Given the description of an element on the screen output the (x, y) to click on. 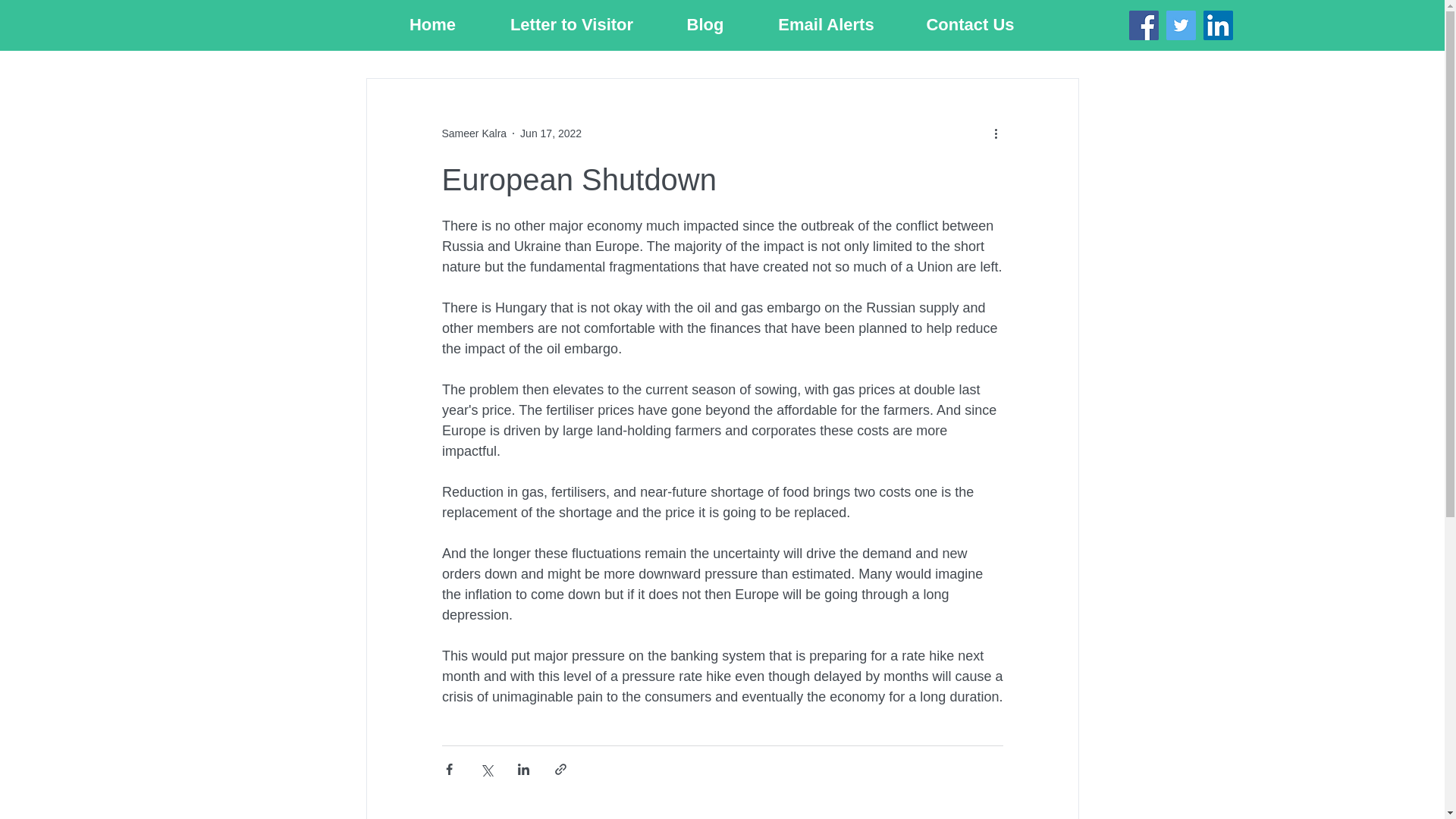
Blog (705, 24)
Letter to Visitor (571, 24)
Contact Us (970, 24)
Home (431, 24)
Sameer Kalra (473, 133)
Email Alerts (825, 24)
Jun 17, 2022 (549, 133)
Sameer Kalra (473, 133)
